Given the description of an element on the screen output the (x, y) to click on. 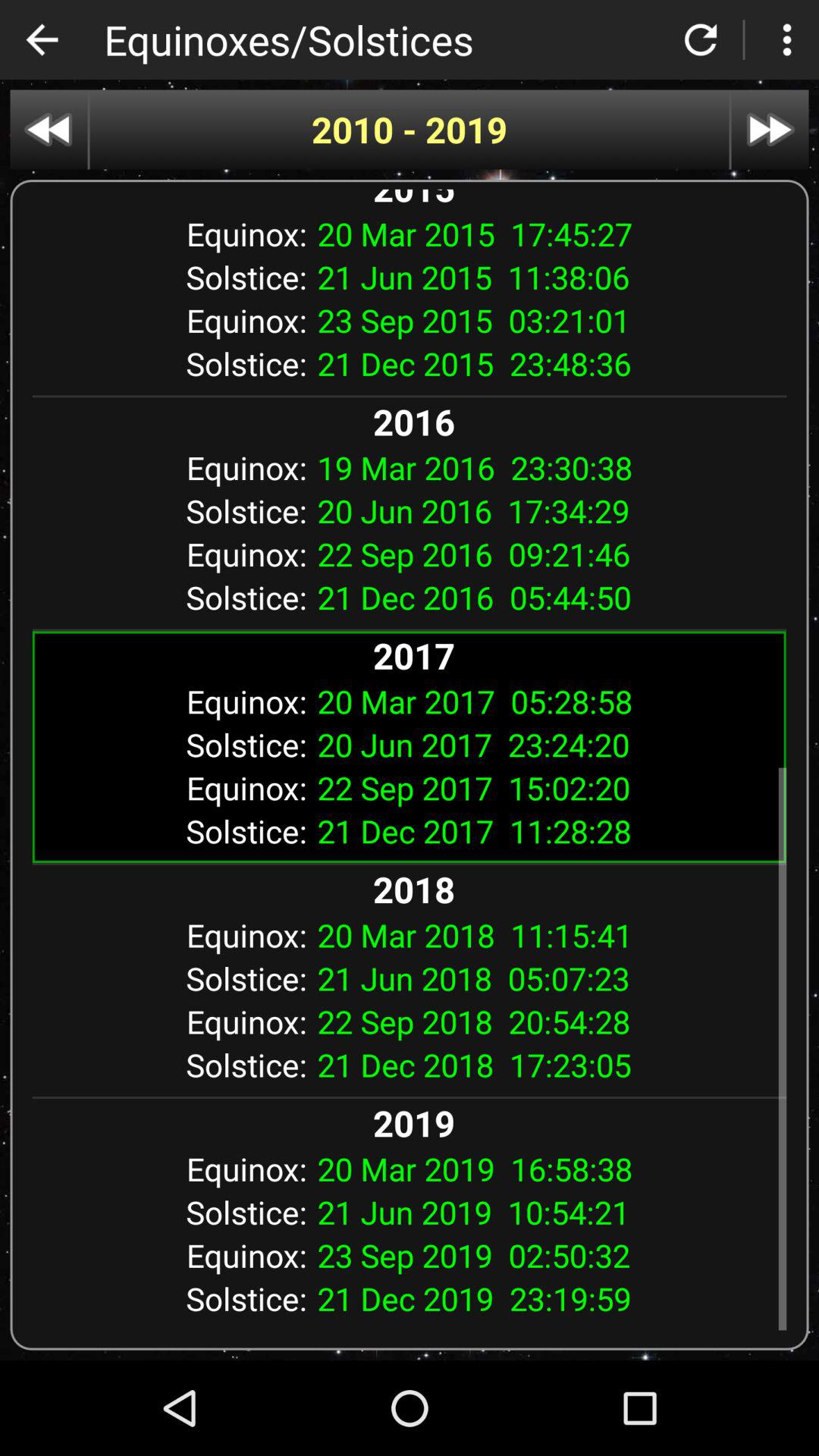
refresh page (700, 39)
